Given the description of an element on the screen output the (x, y) to click on. 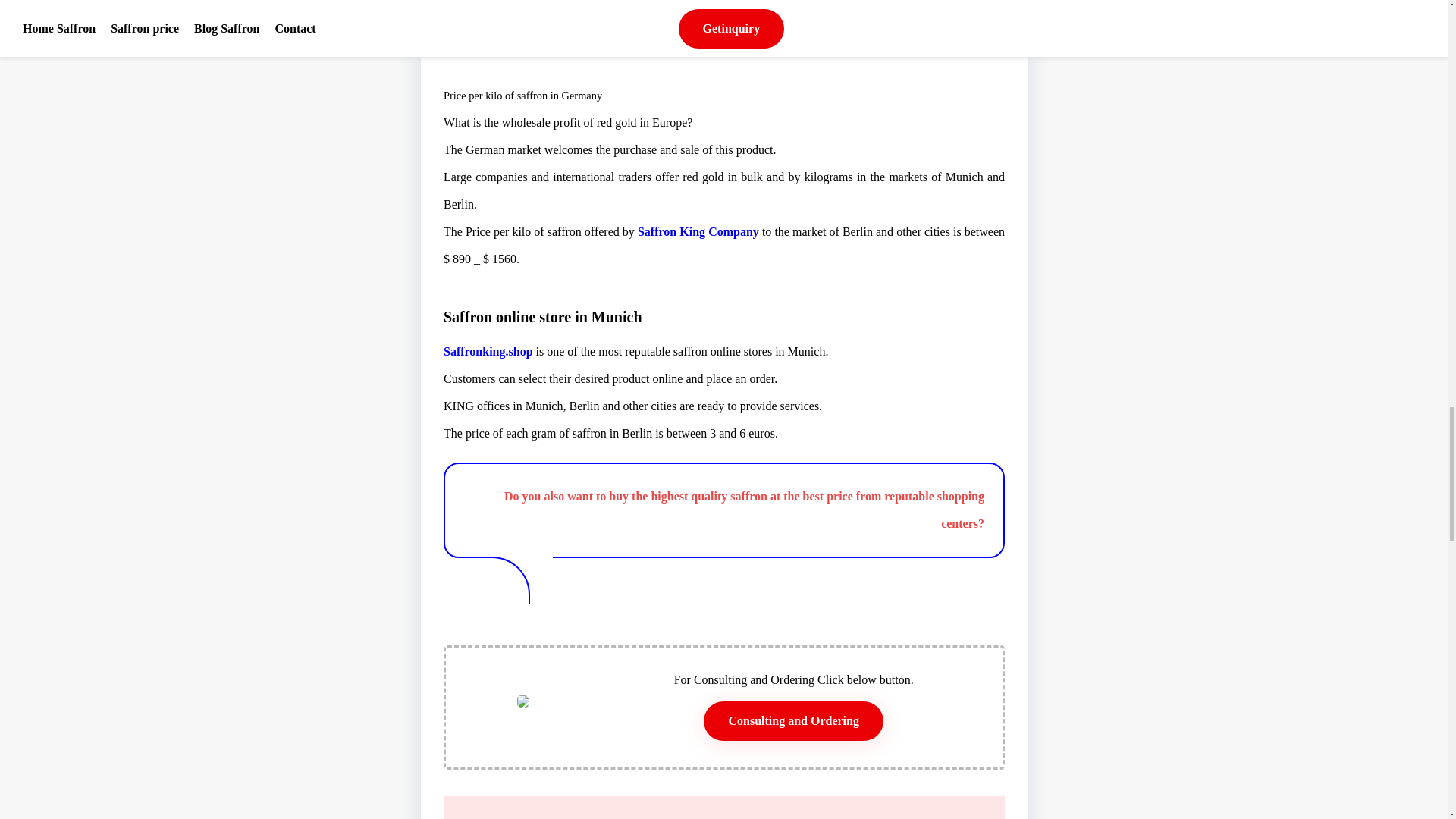
Consulting and Ordering (792, 720)
Saffron King (635, 818)
Saffronking.shop (488, 350)
Saffron King Company (697, 230)
